Given the description of an element on the screen output the (x, y) to click on. 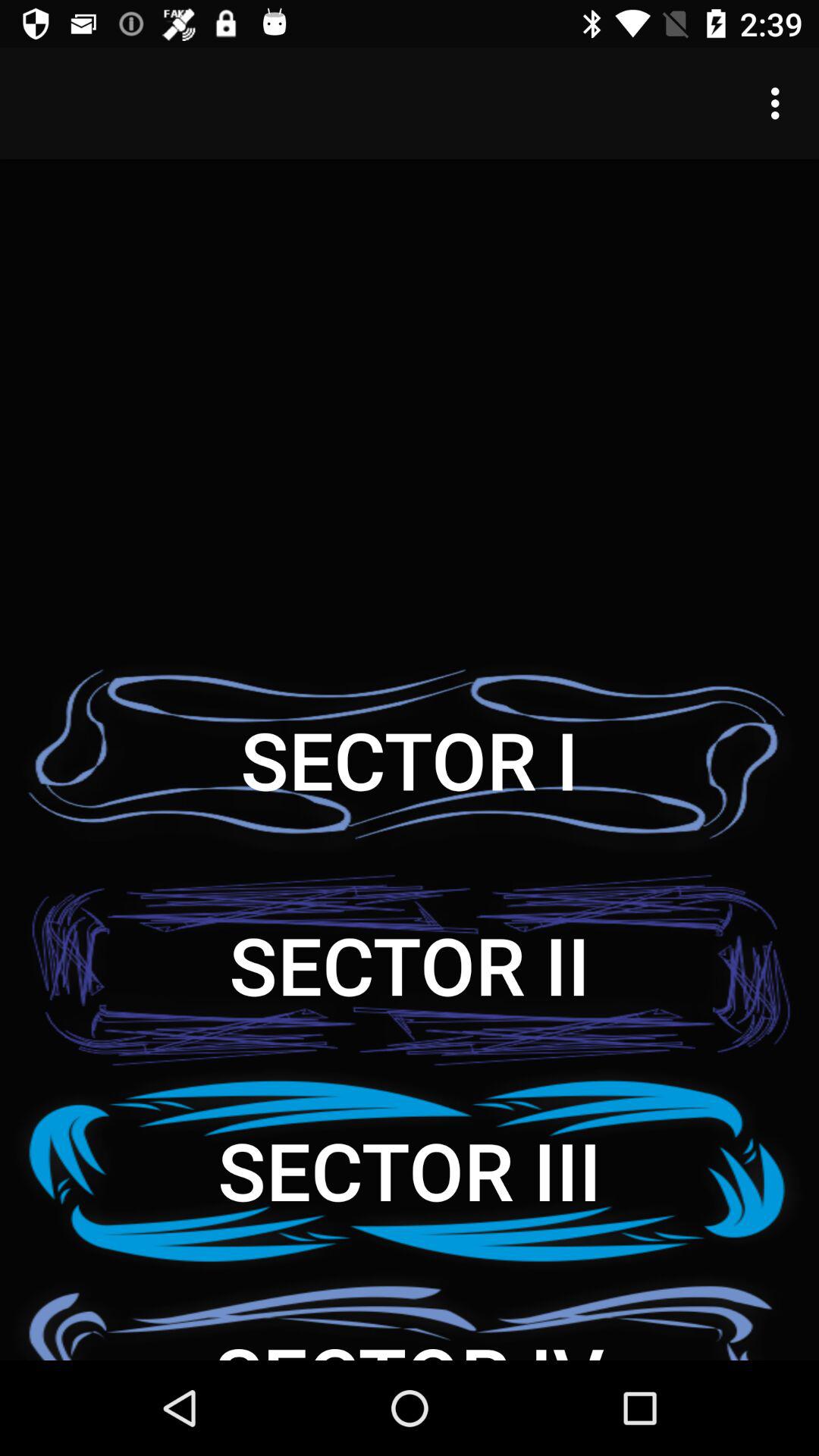
scroll to sector iii icon (409, 1169)
